Given the description of an element on the screen output the (x, y) to click on. 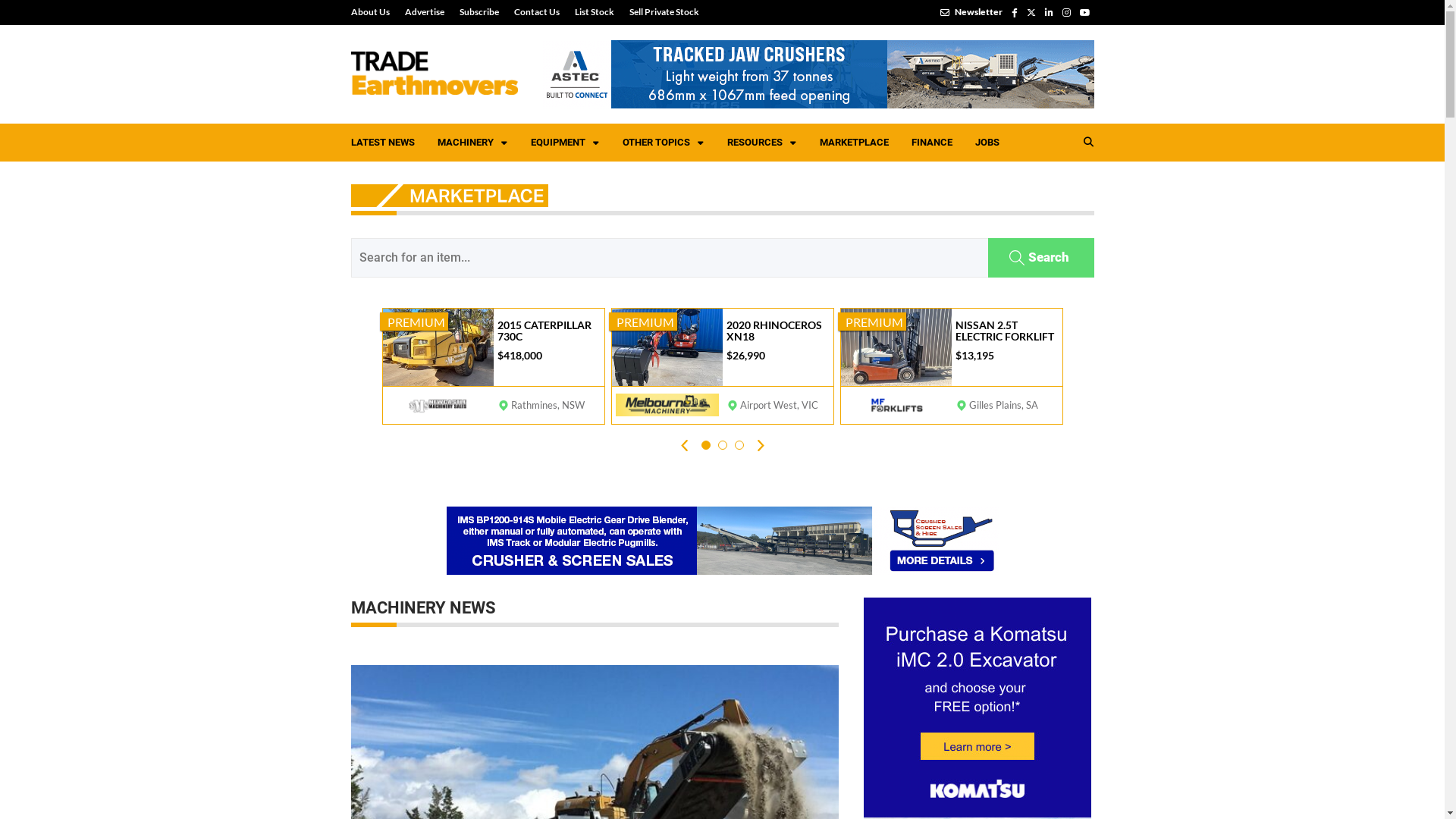
LATEST NEWS Element type: text (382, 142)
MACHINERY Element type: text (472, 142)
JOBS Element type: text (986, 142)
Advertise Element type: text (424, 11)
RESOURCES Element type: text (761, 142)
FINANCE Element type: text (931, 142)
EQUIPMENT Element type: text (564, 142)
PREMIUM
AD
2020 RHINOCEROS XN18
$26,990
Airport West, VIC Element type: text (721, 365)
3rd party ad content Element type: hover (817, 74)
Sell Private Stock Element type: text (660, 11)
Newsletter Element type: text (971, 11)
About Us Element type: text (373, 11)
OTHER TOPICS Element type: text (663, 142)
3rd party ad content Element type: hover (721, 540)
Subscribe Element type: text (478, 11)
Search Element type: text (1040, 257)
List Stock Element type: text (594, 11)
MARKETPLACE Element type: text (854, 142)
PREMIUM
AD
2015 CATERPILLAR 730C
$418,000
Rathmines, NSW Element type: text (492, 365)
Contact Us Element type: text (536, 11)
